Given the description of an element on the screen output the (x, y) to click on. 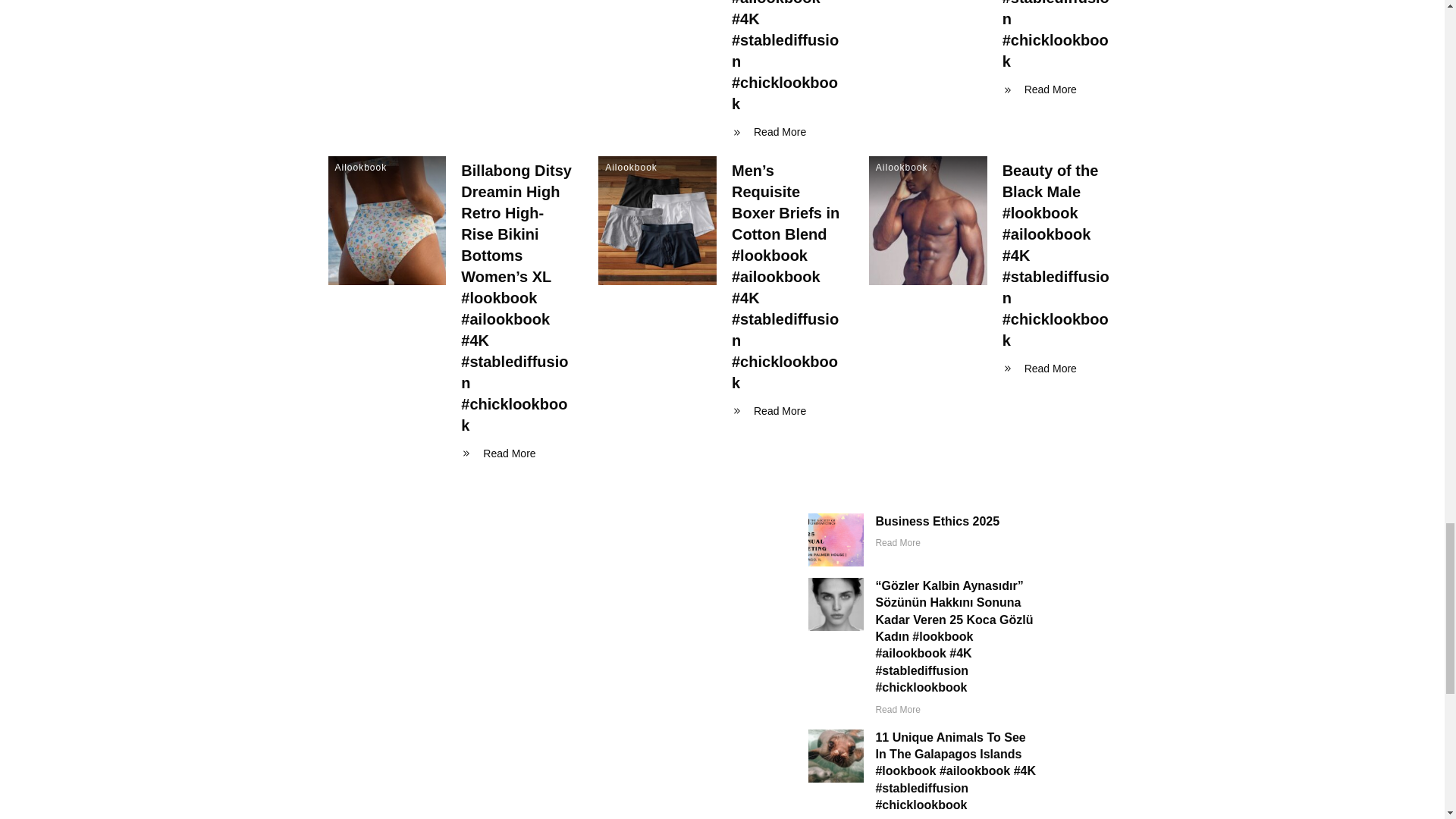
Ailookbook (631, 167)
Ailookbook (360, 167)
Business Ethics 2025 (936, 521)
Read More (1043, 90)
Ailookbook (902, 167)
Read More (772, 131)
